Given the description of an element on the screen output the (x, y) to click on. 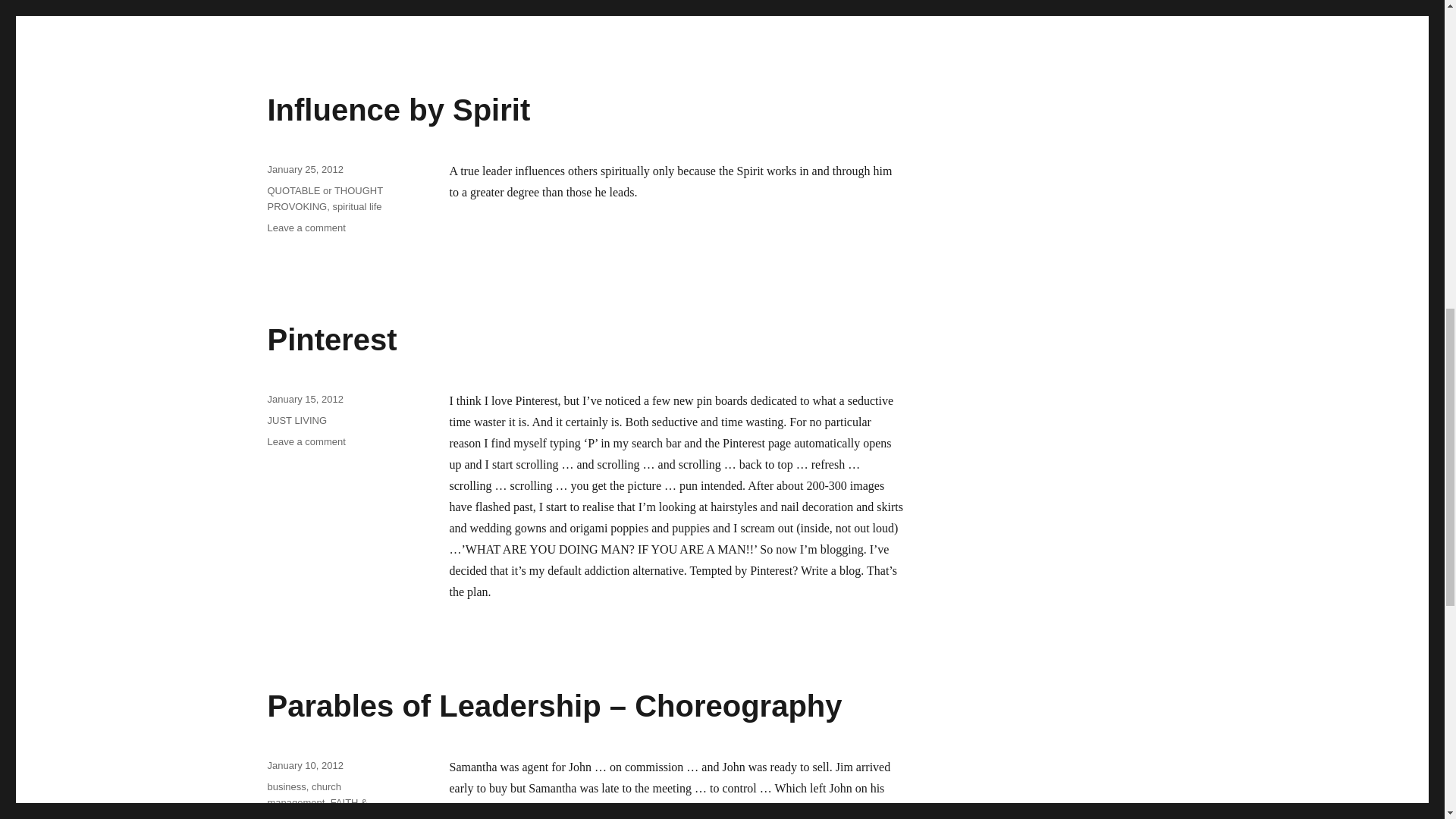
Influence by Spirit (397, 109)
QUOTABLE or THOUGHT PROVOKING (323, 198)
Pinterest (331, 339)
spiritual life (356, 206)
business (285, 786)
January 25, 2012 (304, 169)
January 10, 2012 (304, 765)
January 15, 2012 (305, 441)
church management (304, 398)
